Given the description of an element on the screen output the (x, y) to click on. 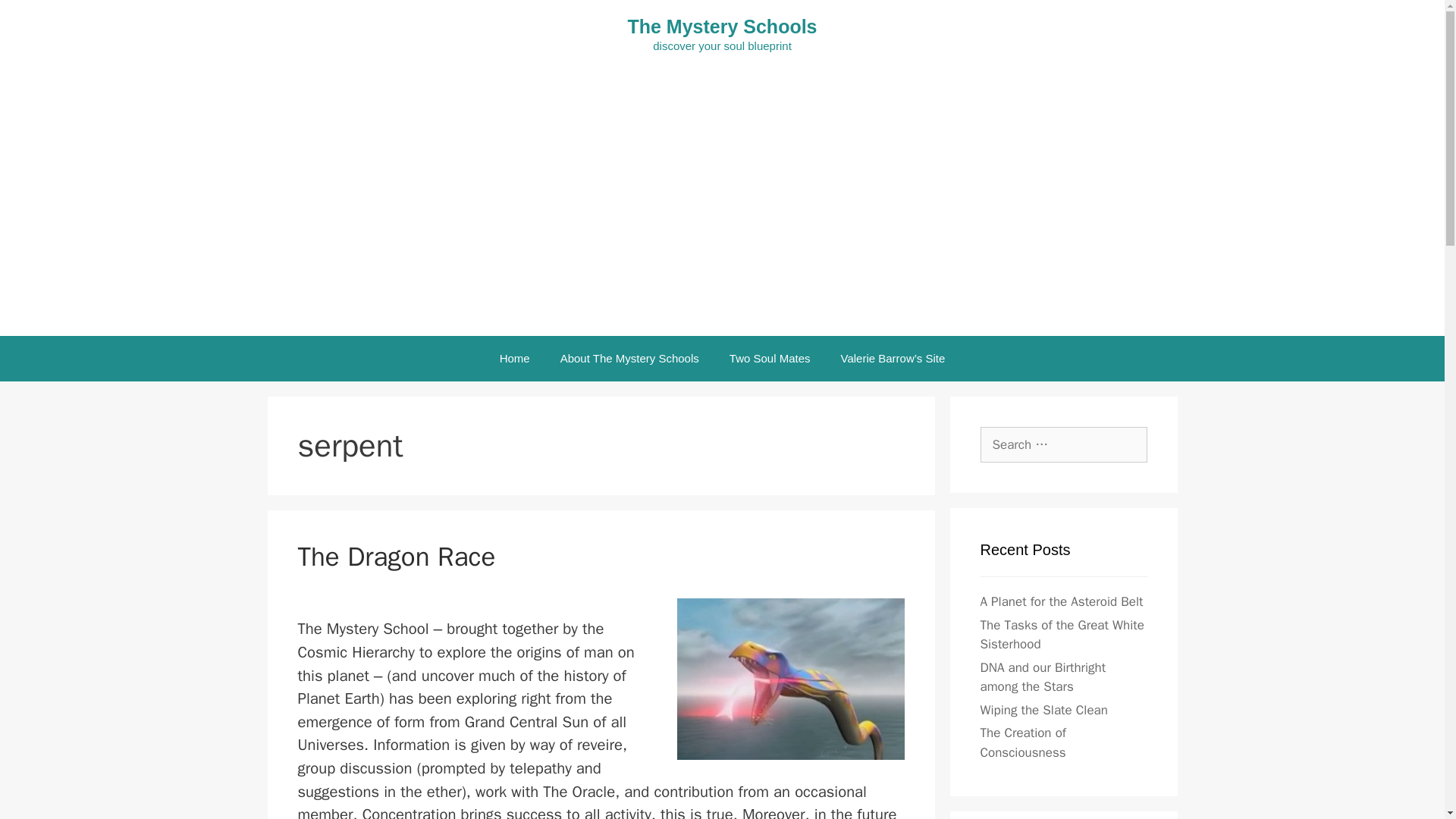
The Dragon Race (396, 556)
Search for: (1063, 443)
The Mystery Schools (721, 25)
Two Soul Mates (769, 357)
About The Mystery Schools (629, 357)
Home (514, 357)
